Given the description of an element on the screen output the (x, y) to click on. 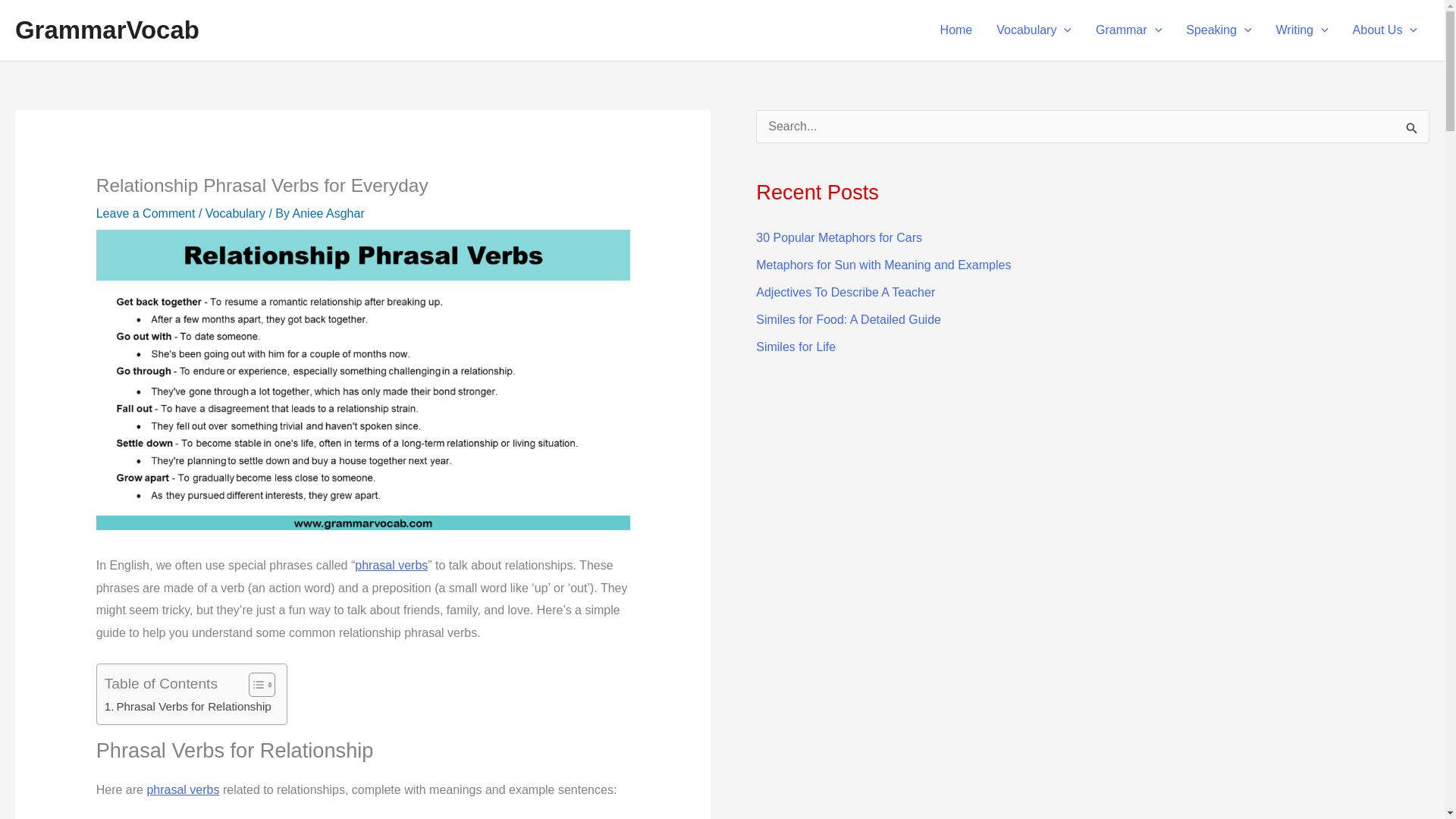
Speaking (1218, 30)
GrammarVocab (106, 29)
Phrasal Verbs for Relationship (187, 706)
Home (956, 30)
Grammar (1128, 30)
Vocabulary (1033, 30)
View all posts by Aniee Asghar (328, 213)
